Given the description of an element on the screen output the (x, y) to click on. 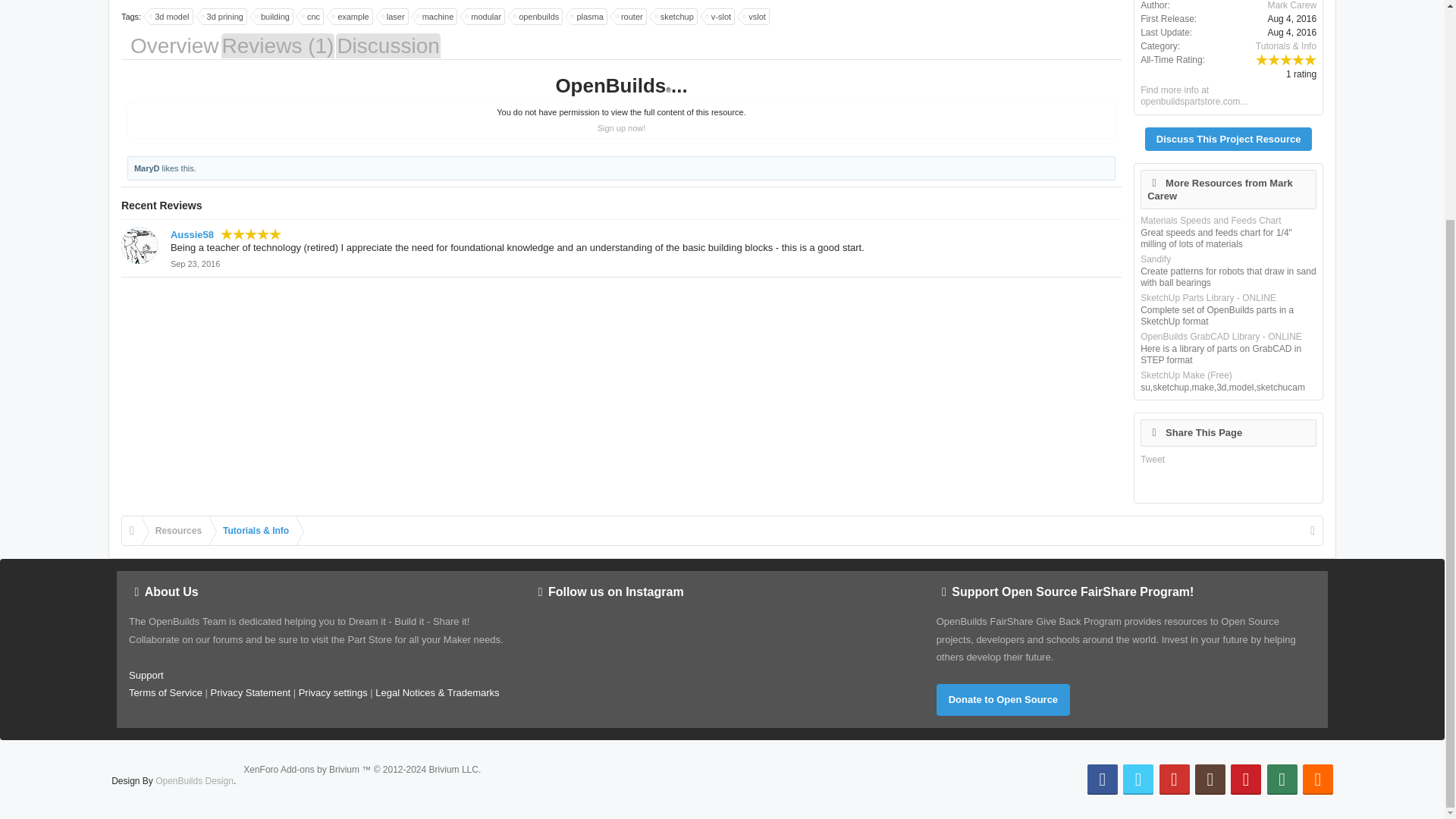
Aug 4, 2016 at 1:36 PM (1291, 32)
Permalink (194, 263)
5.00 (1285, 59)
Aug 4, 2016 at 1:36 PM (1291, 18)
5.00 (251, 233)
Sep 23, 2016 at 8:39 PM (194, 263)
